Given the description of an element on the screen output the (x, y) to click on. 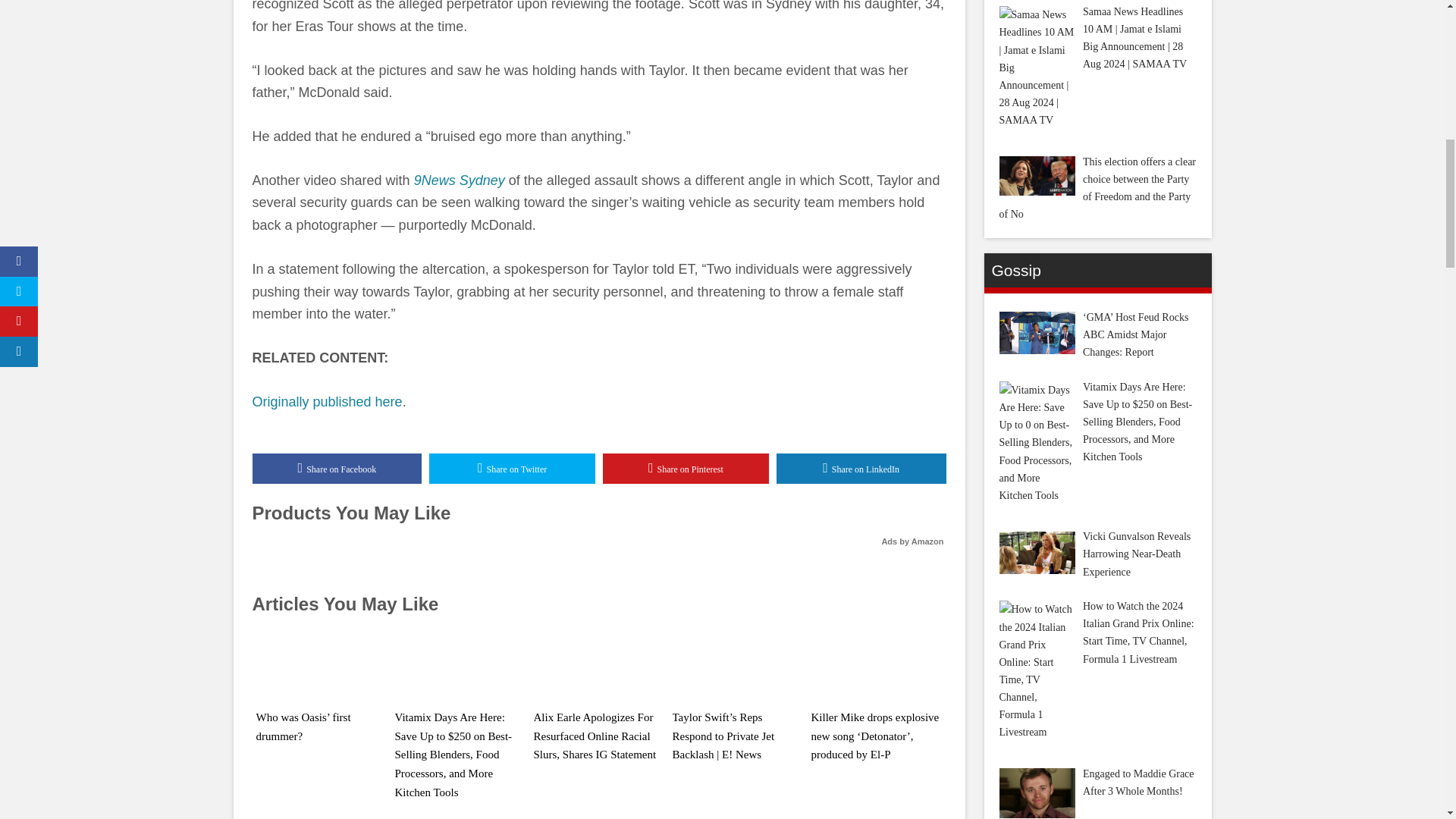
Engaged to Maddie Grace After 3 Whole Months! (1036, 793)
Vicki Gunvalson Reveals Harrowing Near-Death Experience (1036, 552)
